Given the description of an element on the screen output the (x, y) to click on. 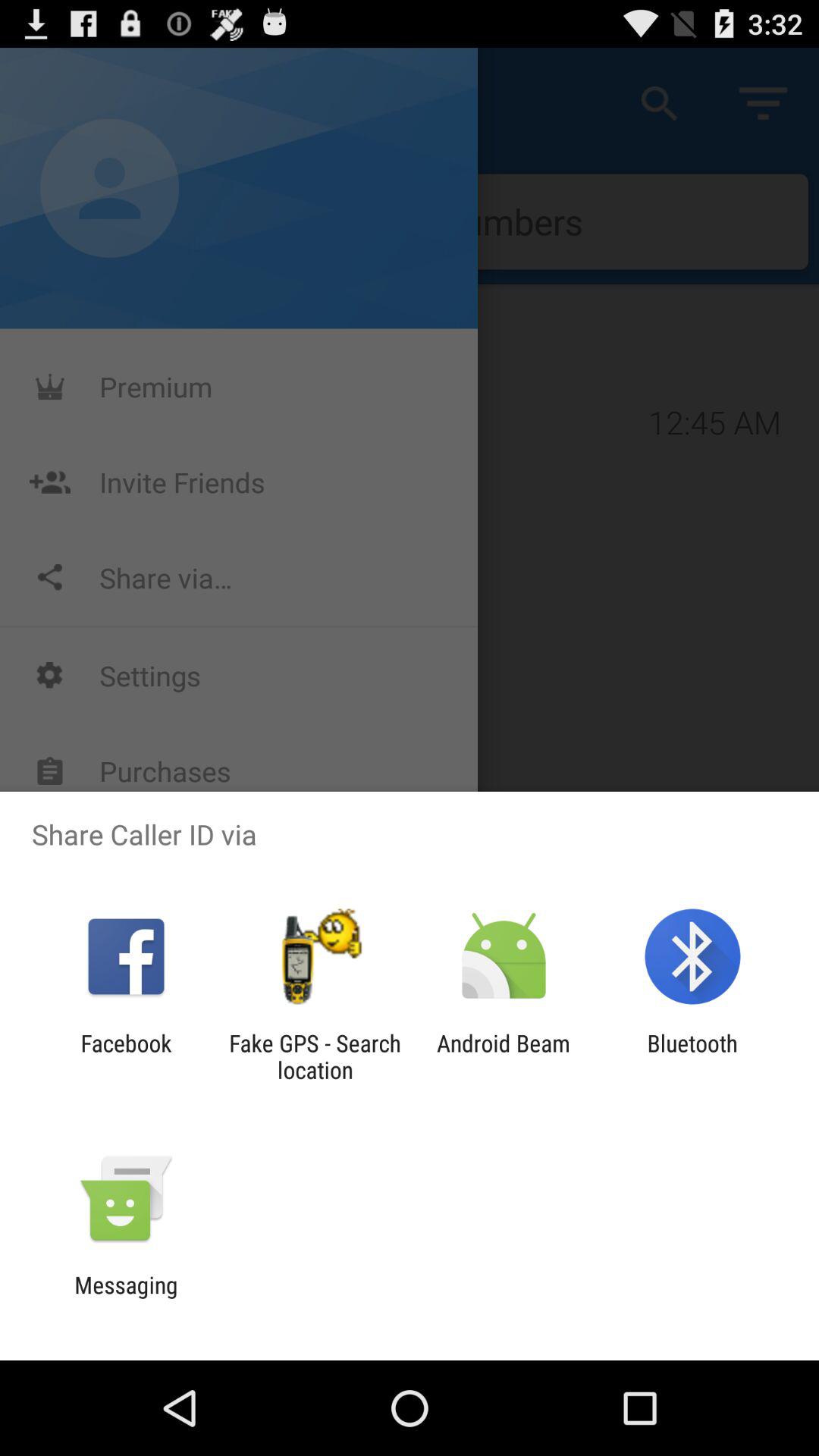
jump until messaging icon (126, 1298)
